Given the description of an element on the screen output the (x, y) to click on. 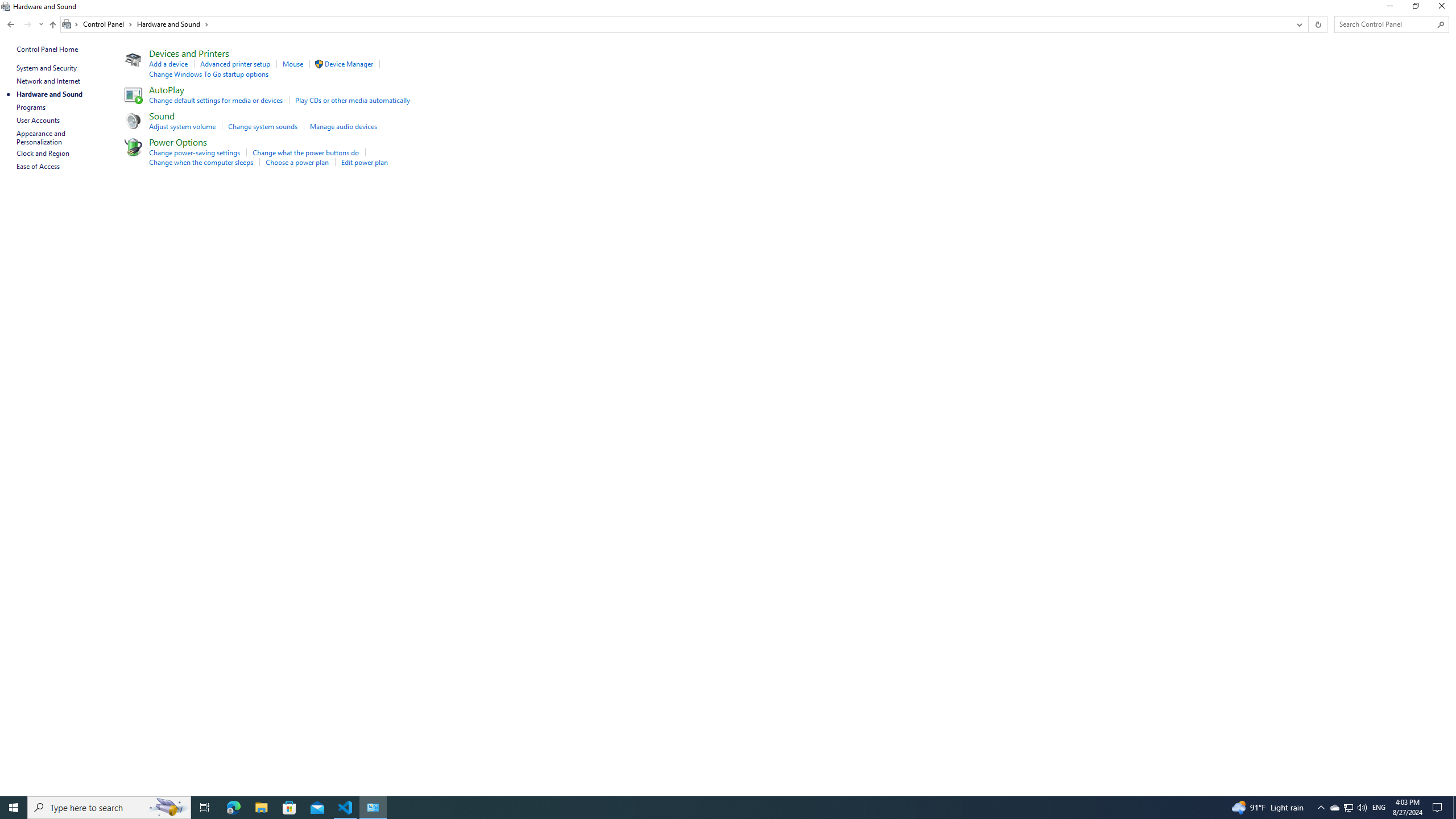
Search Box (1386, 23)
Advanced printer setup (234, 63)
Clock and Region (42, 153)
Choose a power plan (297, 162)
Manage audio devices (343, 126)
Forward (Alt + Right Arrow) (27, 23)
Network and Internet (48, 80)
Change default settings for media or devices (215, 99)
Control Panel Home (47, 49)
Previous Locations (1298, 23)
Change system sounds (262, 126)
Device Manager (348, 63)
